Given the description of an element on the screen output the (x, y) to click on. 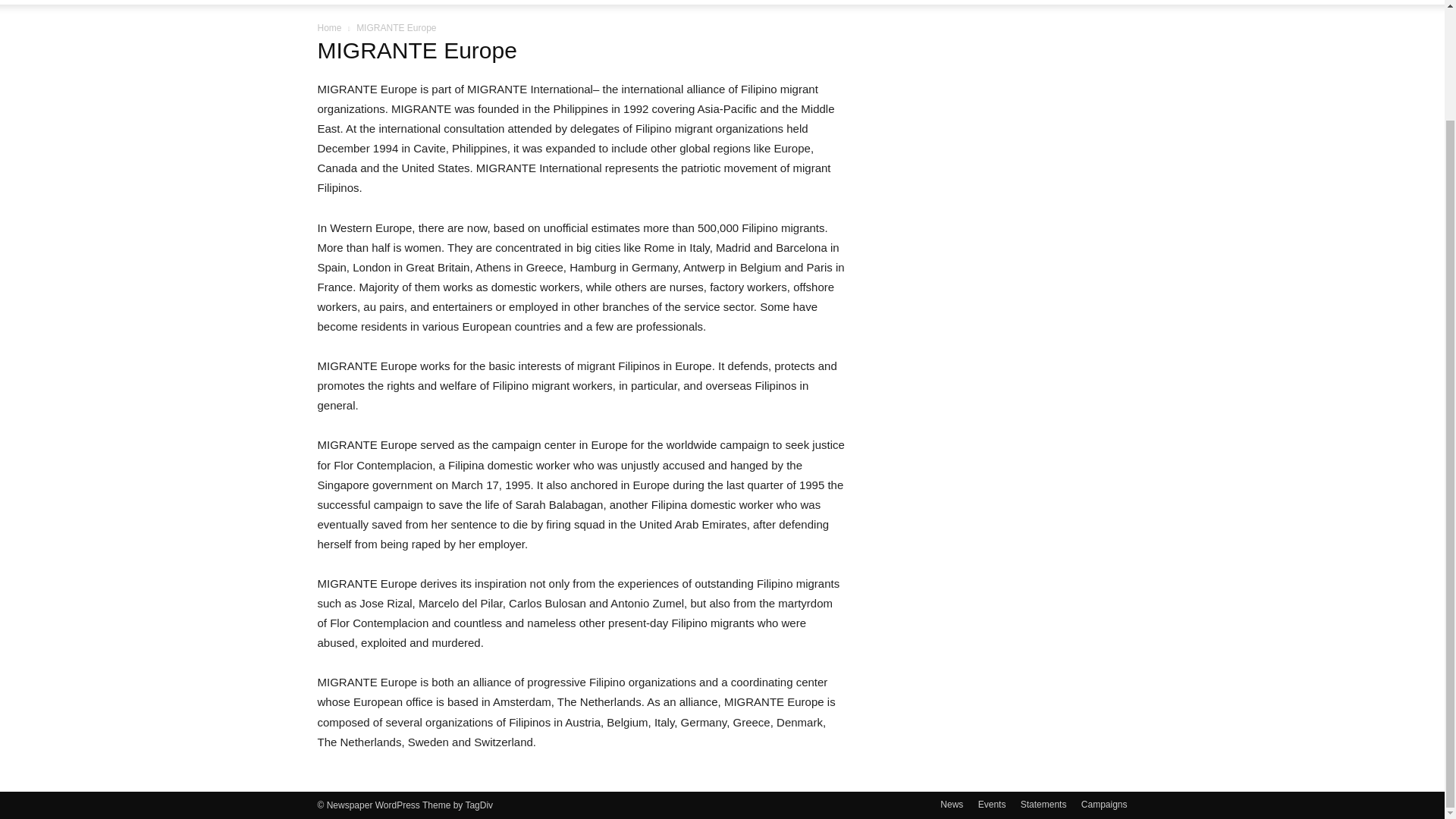
STATEMENTS (505, 2)
NEWS (349, 2)
Search (1085, 46)
EVENTS (422, 2)
CAMPAIGNS (594, 2)
